Given the description of an element on the screen output the (x, y) to click on. 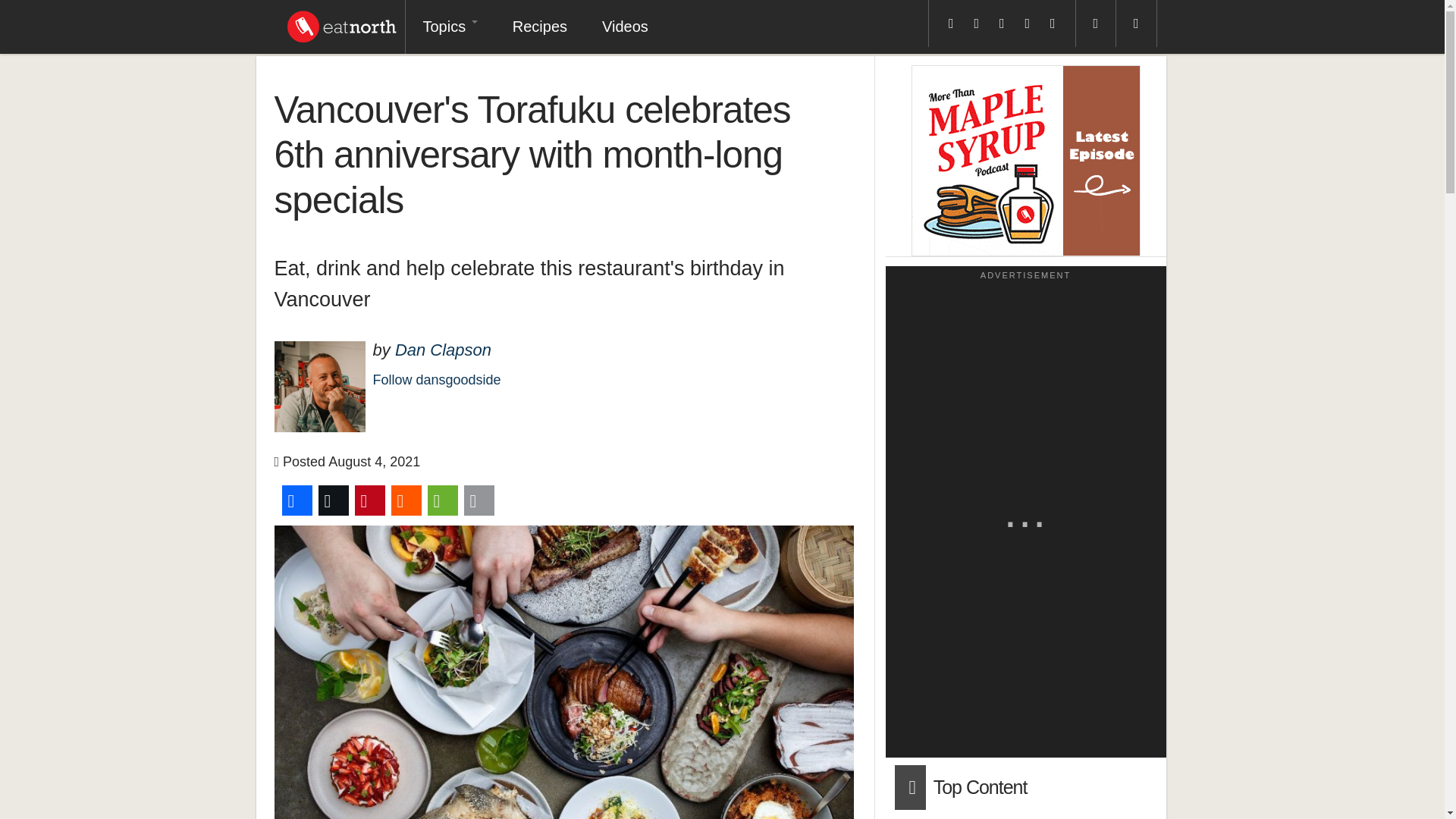
Facebook (297, 500)
Dan Clapson (443, 349)
Reddit (406, 500)
Home (341, 22)
Email This (479, 500)
Evernote (443, 500)
Topics (448, 27)
Follow dansgoodside (436, 379)
Recipes (539, 27)
Pinterest (370, 500)
Videos (625, 27)
